Given the description of an element on the screen output the (x, y) to click on. 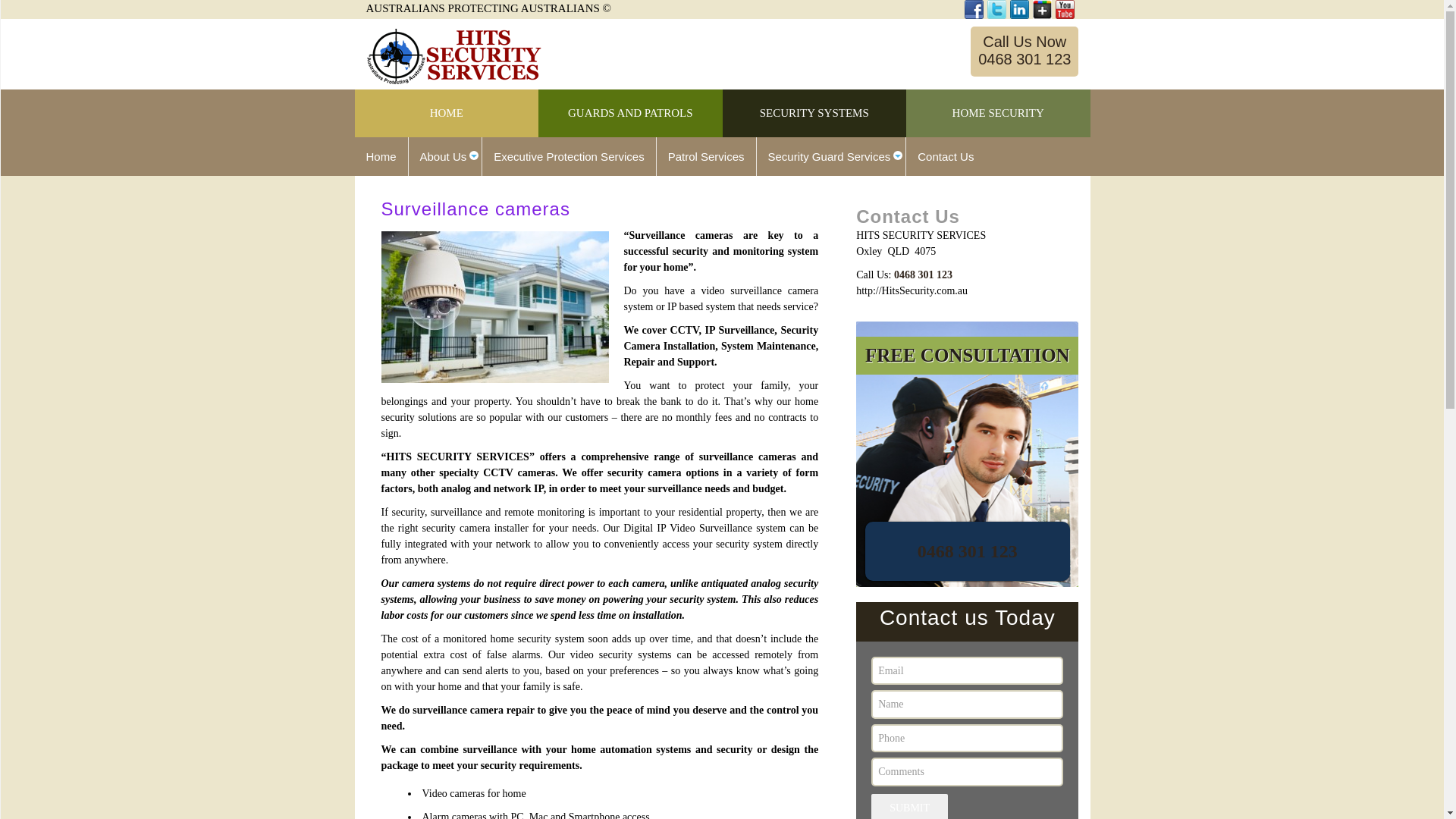
Home Element type: text (381, 155)
Linked In Element type: hover (1019, 9)
HOME Element type: text (446, 113)
Google + Element type: hover (1041, 9)
Call Us Now
0468 301 123 Element type: text (1024, 51)
0468 301 123 Element type: text (923, 273)
Executive Protection Services Element type: text (568, 155)
Security Guard Services Element type: text (831, 155)
GUARDS AND PATROLS Element type: text (630, 113)
About Us Element type: text (445, 155)
Contact Us Element type: text (945, 155)
SECURITY SYSTEMS Element type: text (813, 113)
You Tube Element type: hover (1064, 9)
0468 301 123 Element type: text (967, 551)
Facebook Element type: hover (973, 9)
Twitter Element type: hover (996, 9)
Patrol Services Element type: text (706, 155)
HOME SECURITY Element type: text (998, 113)
